Given the description of an element on the screen output the (x, y) to click on. 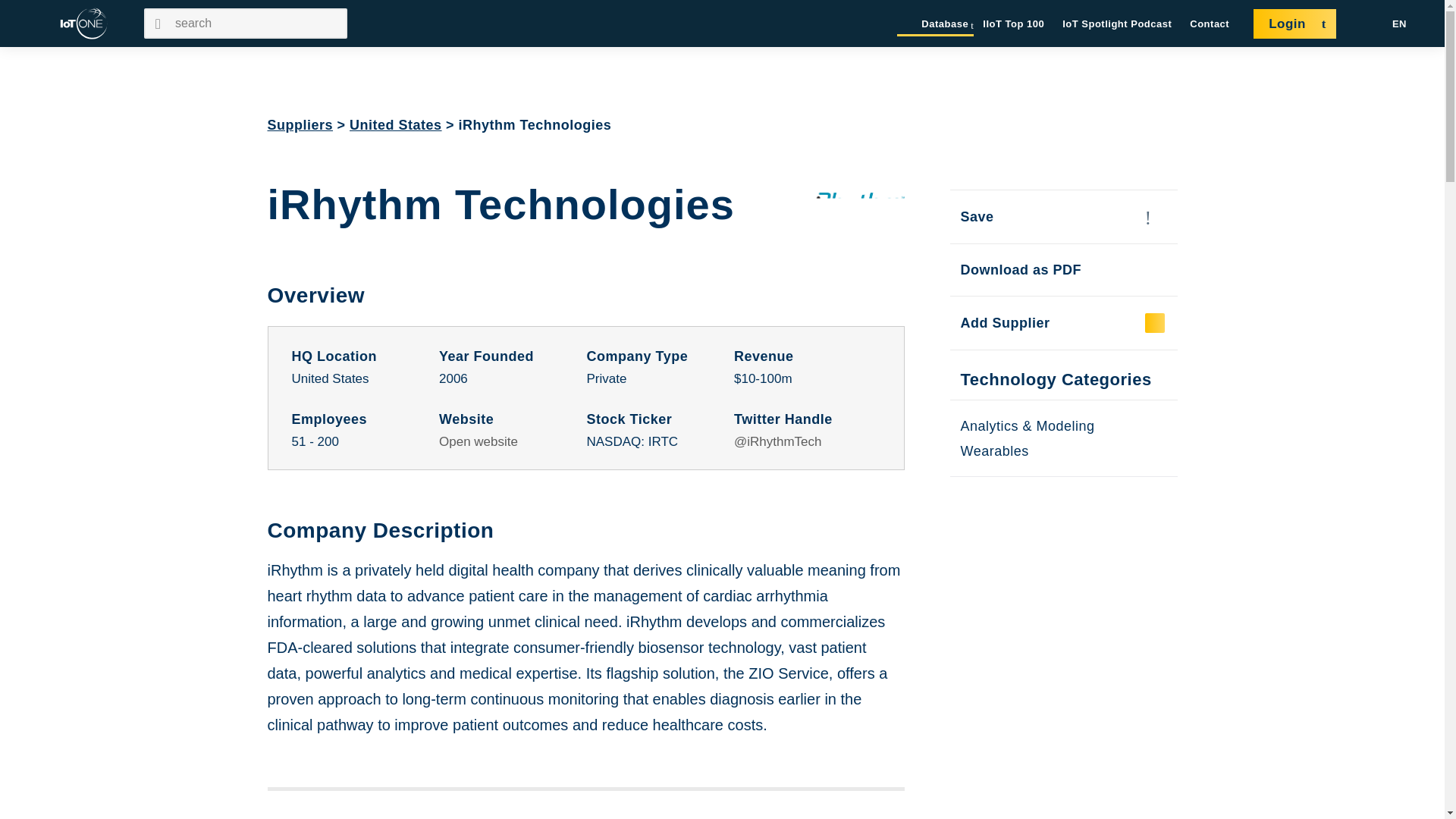
Open website (478, 441)
IoT Spotlight Podcast (1117, 23)
iRhythm Technologies Logo (858, 204)
Suppliers (299, 124)
IIoT Top 100 (1013, 23)
Wearables (993, 450)
Contact (1209, 23)
United States (395, 124)
